Given the description of an element on the screen output the (x, y) to click on. 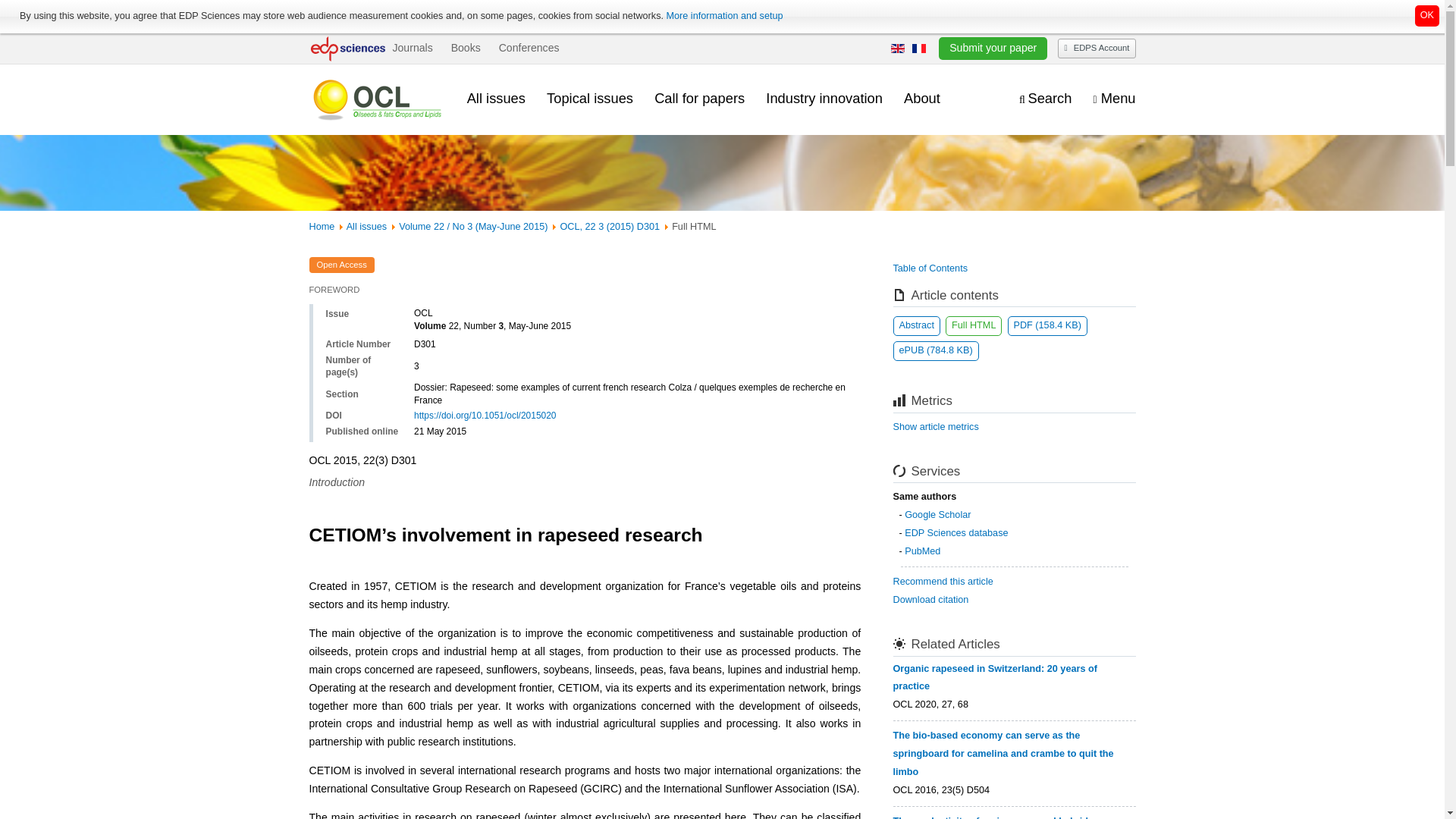
Books (465, 47)
Topical issues (590, 98)
Submit your paper (992, 47)
Conferences (529, 47)
Click to close this notification (1427, 15)
Journals (411, 47)
Display the search engine (1045, 98)
More information and setup (724, 15)
Full HTML (972, 325)
Abstract (916, 325)
Journal homepage (376, 99)
OK (1427, 15)
All issues (496, 98)
